Given the description of an element on the screen output the (x, y) to click on. 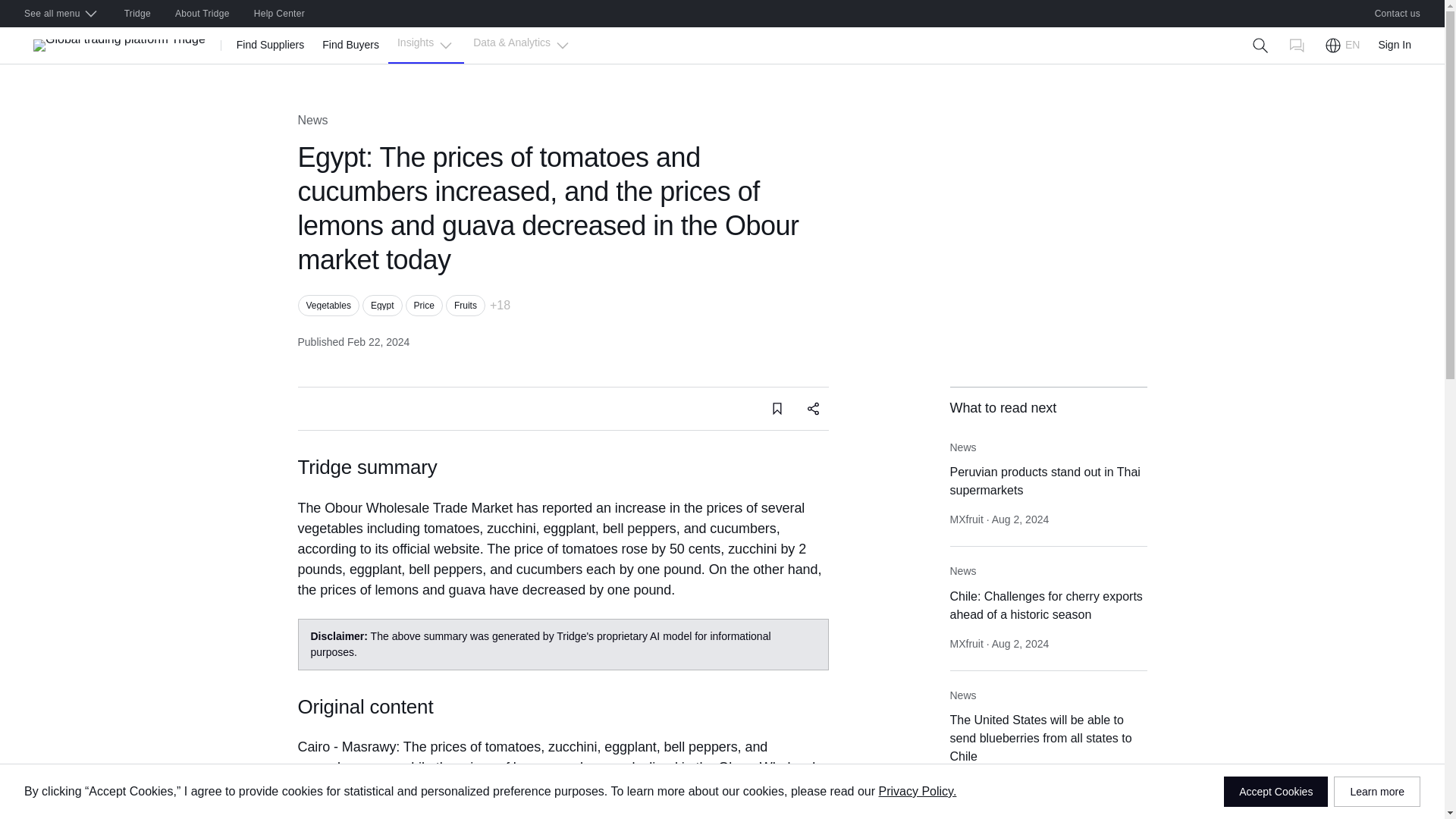
Tridge (137, 13)
Contact us (1397, 13)
See all menu (61, 13)
About Tridge (202, 13)
Help Center (279, 13)
